Given the description of an element on the screen output the (x, y) to click on. 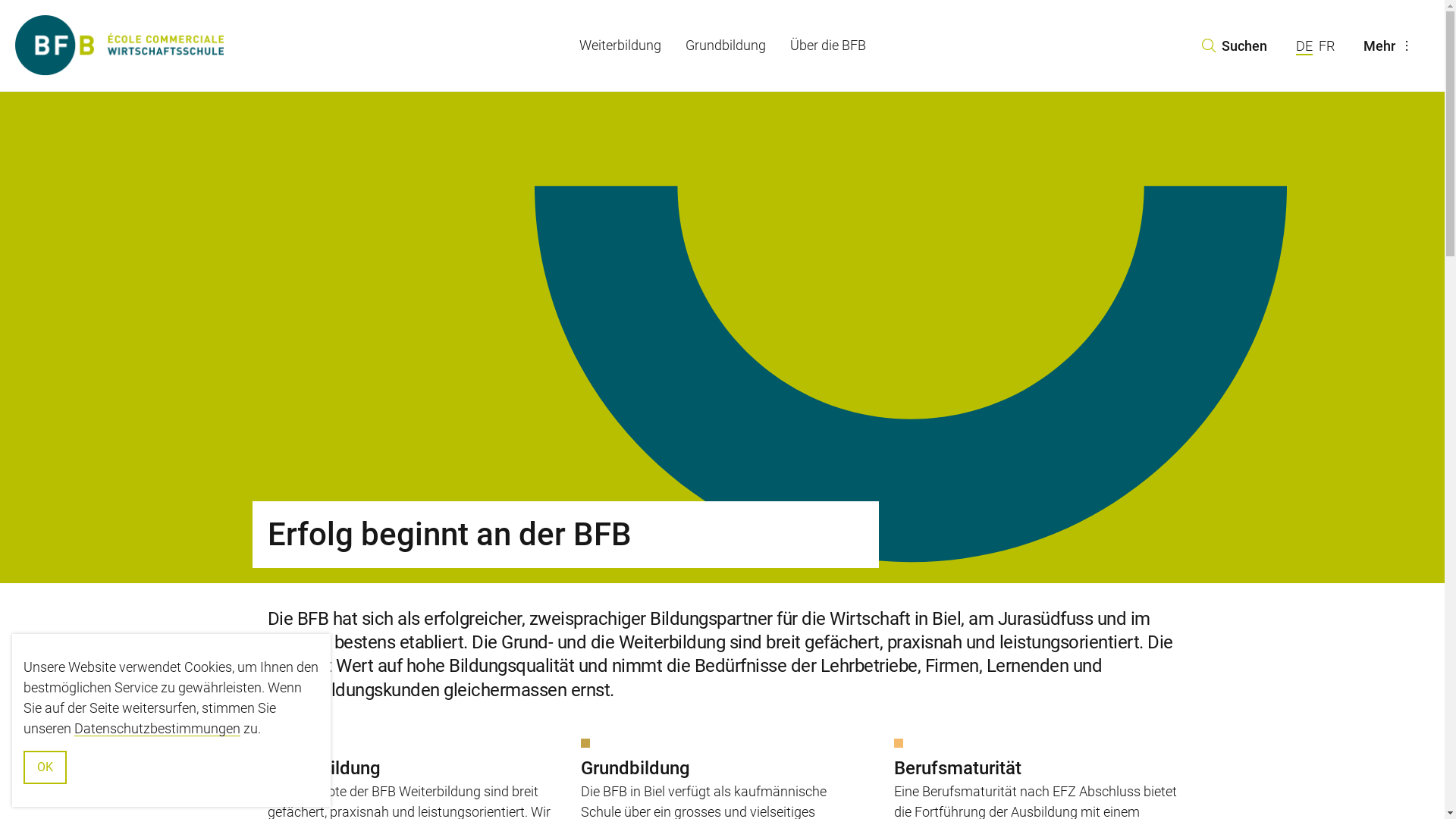
Weiterbildung Element type: text (620, 45)
FR Element type: text (1325, 45)
Grundbildung Element type: text (725, 45)
Mehr Element type: text (1389, 44)
Datenschutzbestimmungen Element type: text (157, 728)
OK Element type: text (44, 767)
Suchen Element type: text (1233, 44)
DE Element type: text (1303, 46)
